Given the description of an element on the screen output the (x, y) to click on. 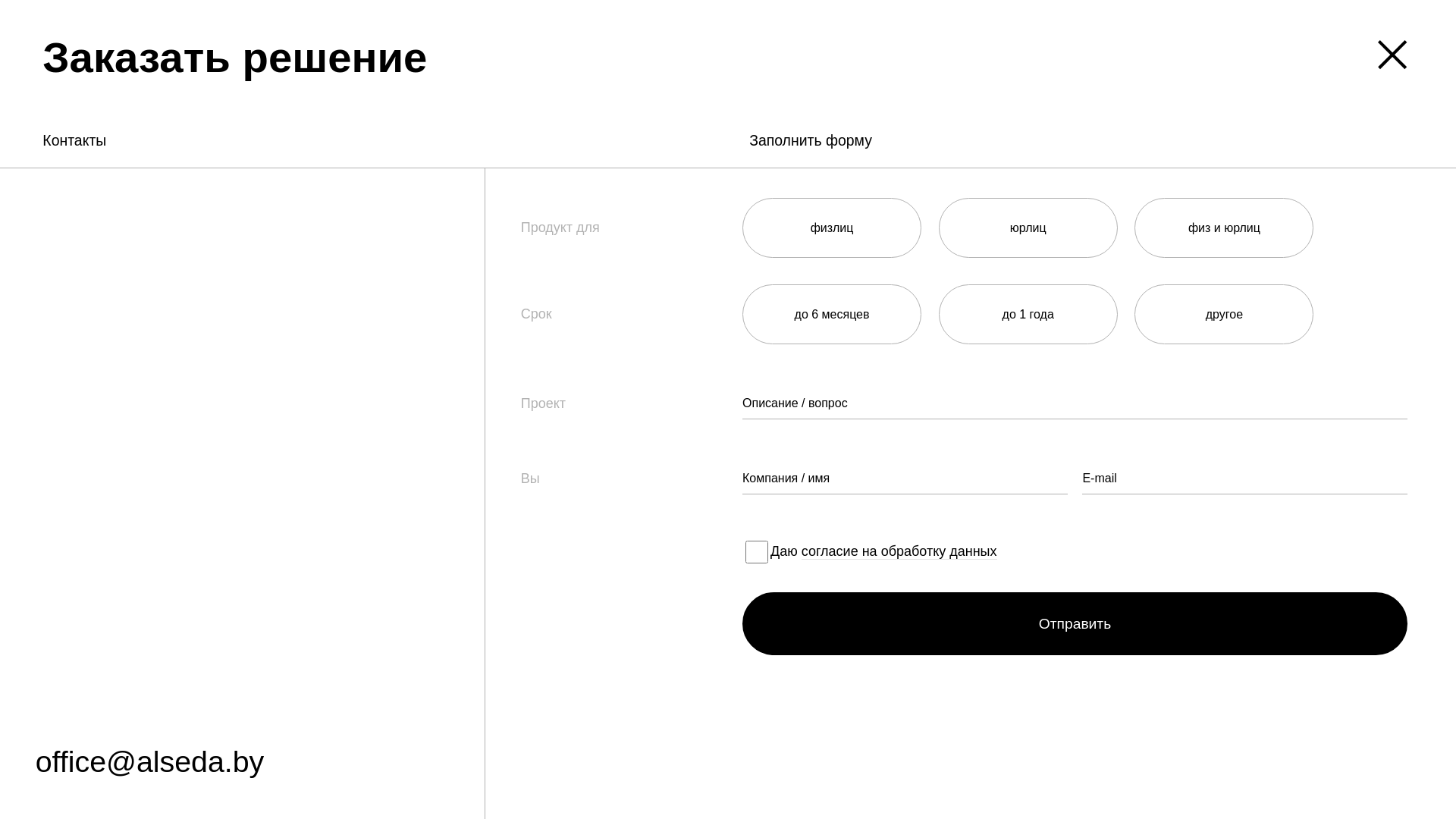
office@alseda.by Element type: text (149, 764)
